Given the description of an element on the screen output the (x, y) to click on. 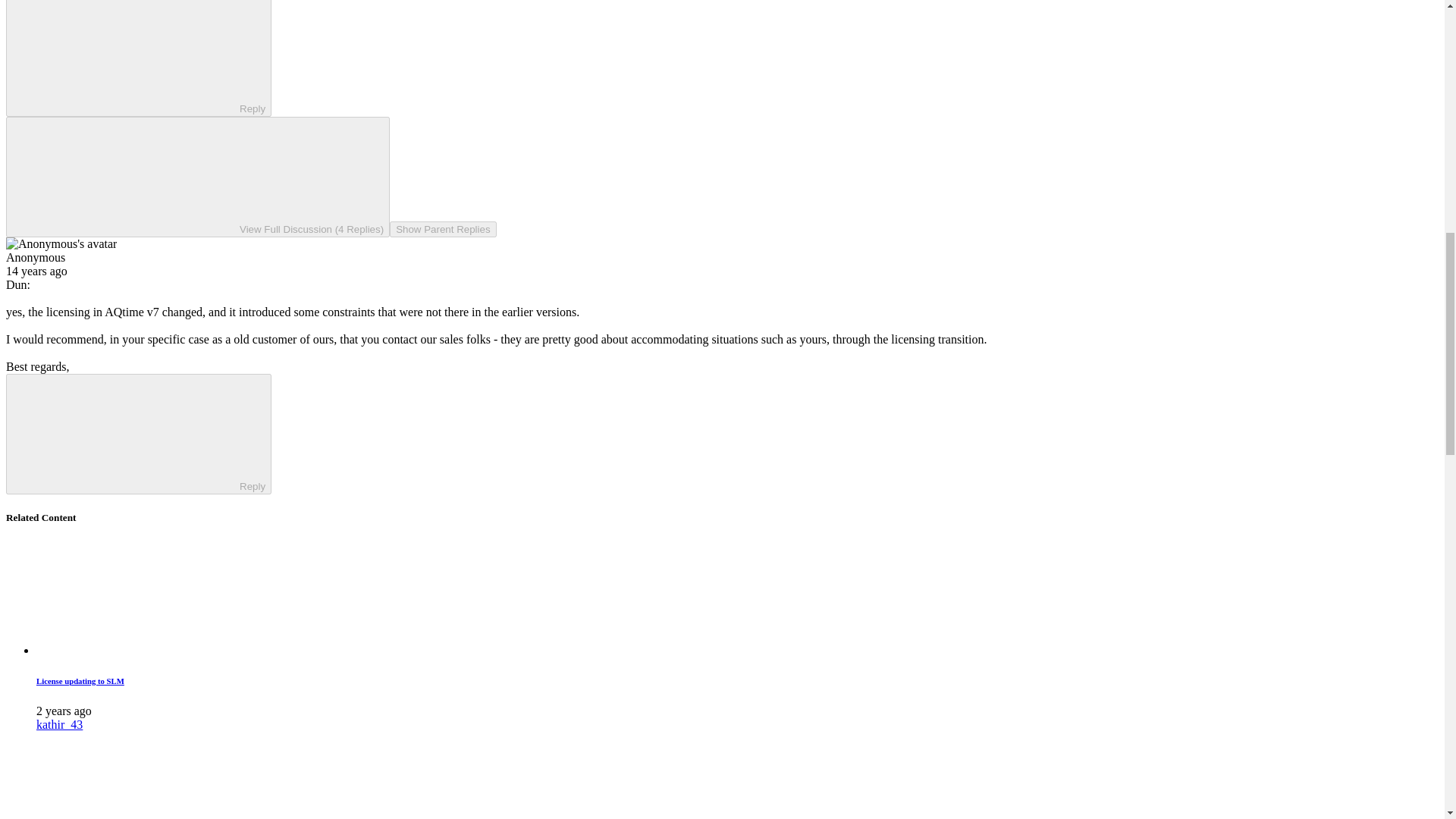
ReplyReply (137, 433)
February 15, 2011 at 3:01 PM (35, 270)
License updating to SLM (79, 680)
Reply (125, 56)
Show Parent Replies (443, 229)
August 21, 2023 at 2:29 PM (63, 710)
Reply (125, 432)
ReplyReply (137, 58)
